Given the description of an element on the screen output the (x, y) to click on. 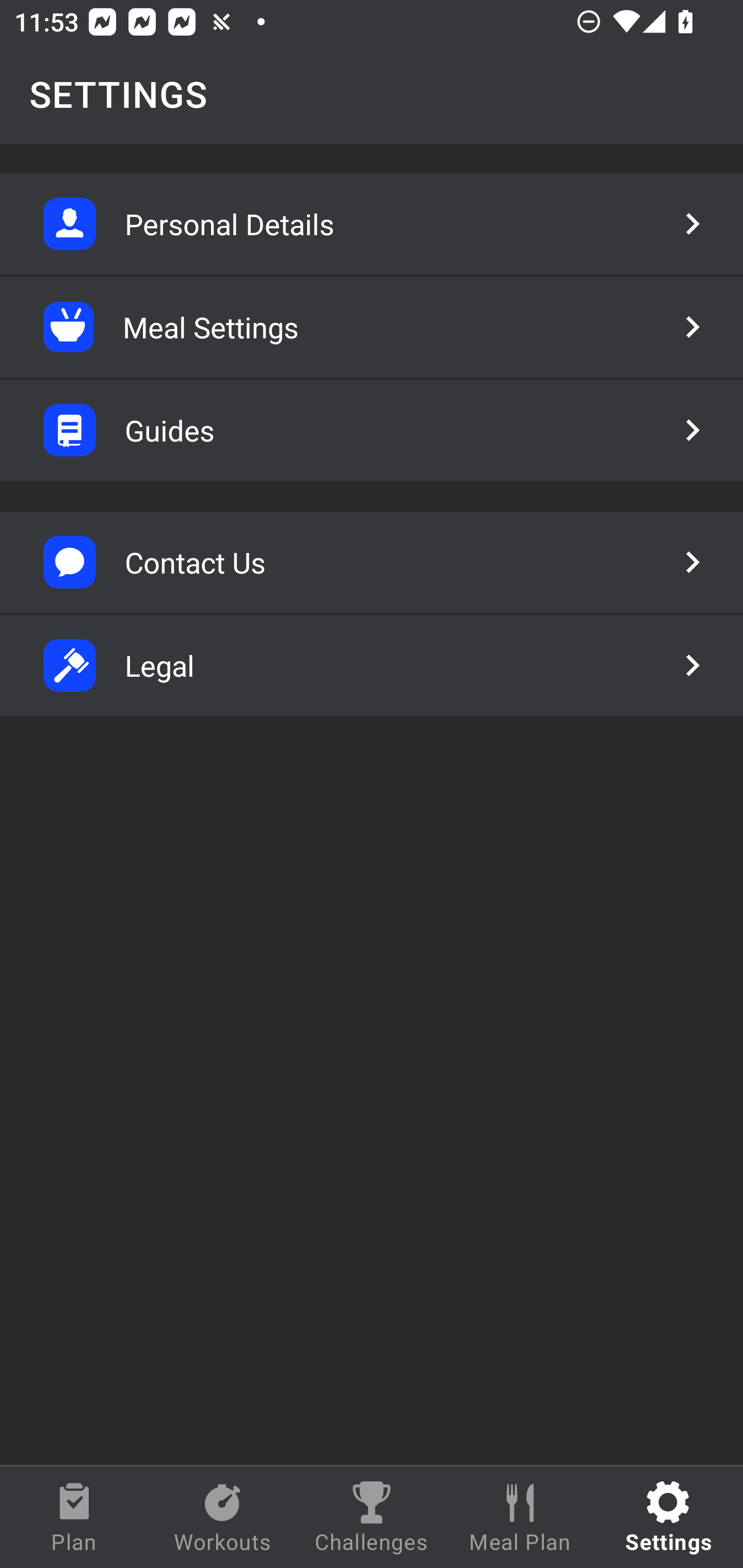
Personal Details (371, 224)
Meal Settings (371, 326)
Guides (371, 430)
Contact Us (371, 562)
Legal (371, 665)
 Plan  (74, 1517)
 Workouts  (222, 1517)
 Challenges  (371, 1517)
 Meal Plan  (519, 1517)
